Given the description of an element on the screen output the (x, y) to click on. 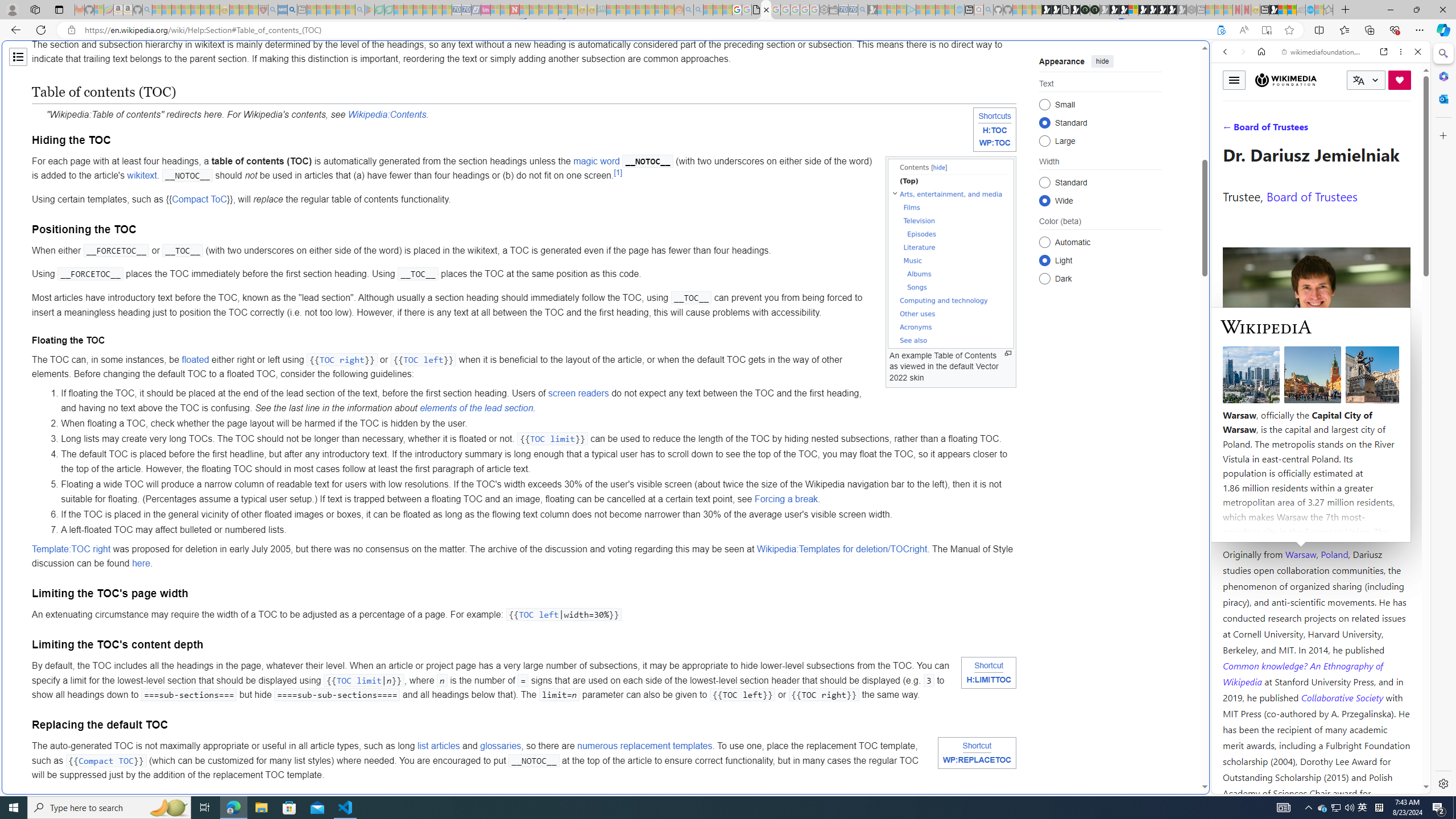
Bing Real Estate - Home sales and rental listings - Sleeping (862, 9)
WP:TOC (994, 142)
Services - Maintenance | Sky Blue Bikes - Sky Blue Bikes (1309, 9)
Jobs - lastminute.com Investor Portal - Sleeping (485, 9)
Play Zoo Boom in your browser | Games from Microsoft Start (1055, 9)
World - MSN (727, 389)
screen readers (578, 393)
Automatic (1044, 241)
Kozminski University (1316, 486)
